Given the description of an element on the screen output the (x, y) to click on. 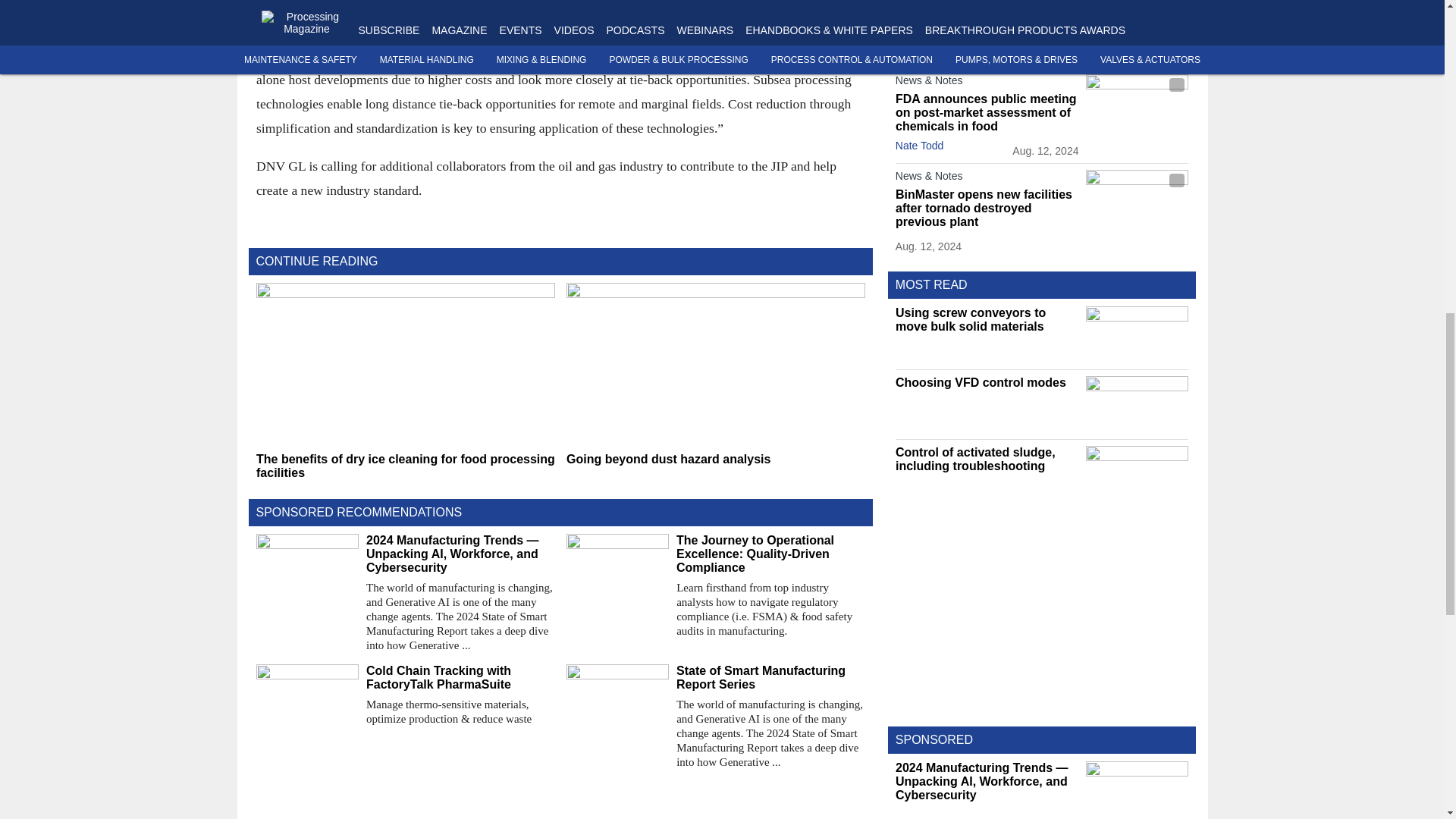
Cold Chain Tracking with FactoryTalk PharmaSuite (459, 677)
Going beyond dust hazard analysis (715, 459)
